Given the description of an element on the screen output the (x, y) to click on. 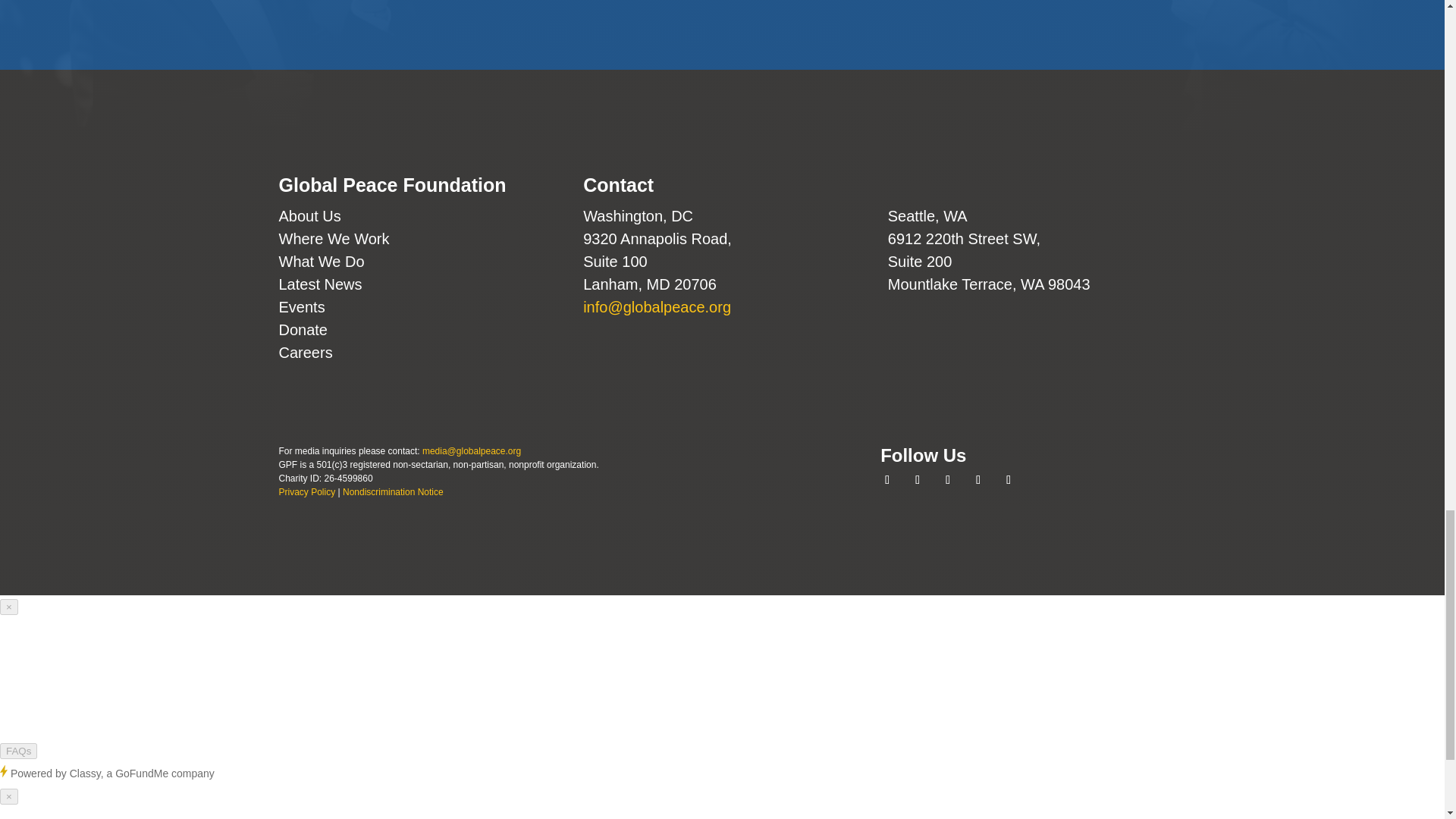
Follow on Instagram (947, 479)
Follow on Facebook (887, 479)
Follow on LinkedIn (978, 479)
Follow on X (917, 479)
Follow on Youtube (1007, 479)
